Given the description of an element on the screen output the (x, y) to click on. 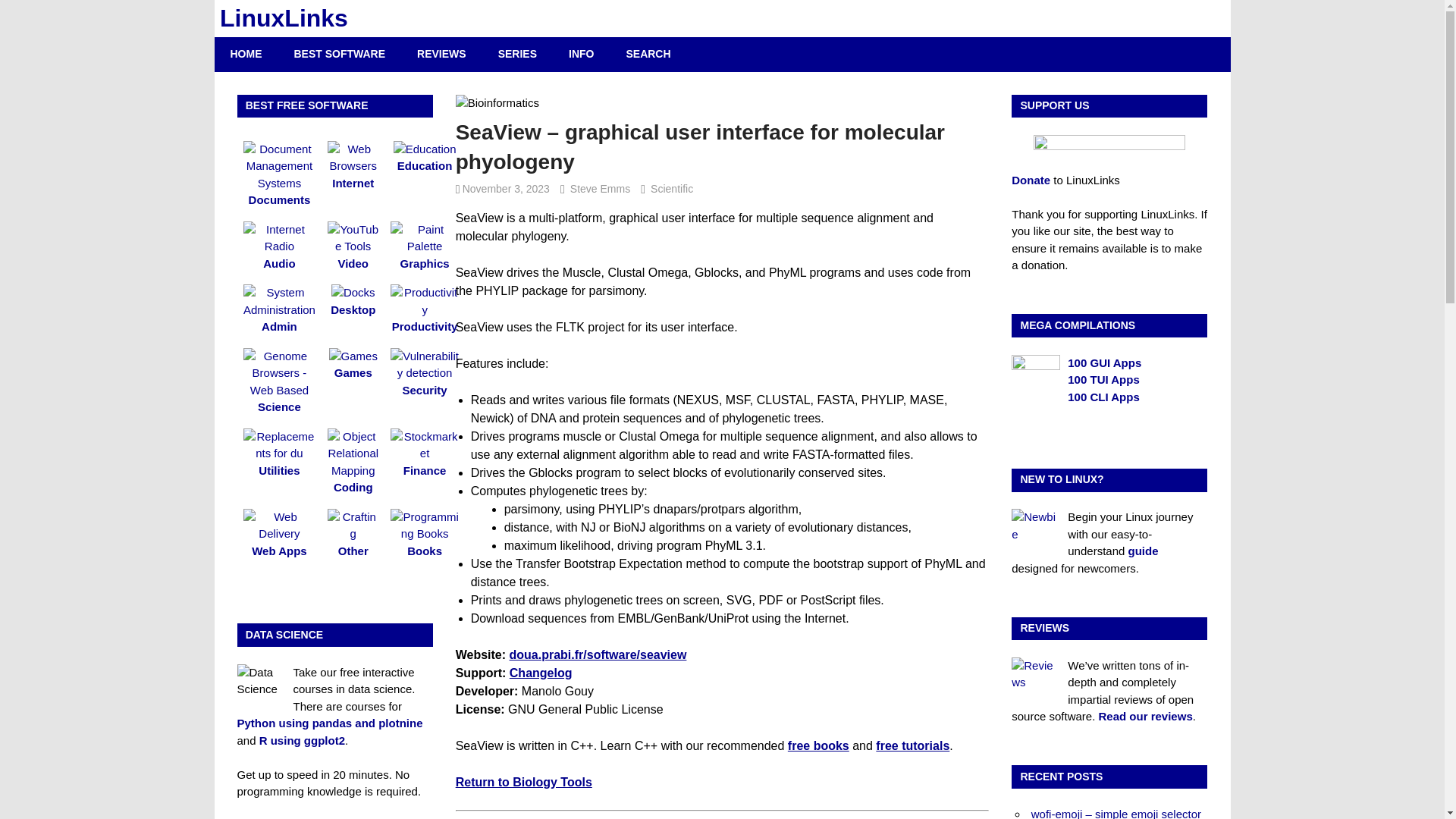
free tutorials (912, 745)
LinuxLinks (283, 17)
View all posts by Steve Emms (600, 188)
REVIEWS (441, 53)
SERIES (517, 53)
Scientific (671, 188)
Steve Emms (600, 188)
Return to Biology Tools (523, 781)
HOME (246, 53)
SEARCH (647, 53)
INFO (581, 53)
BEST SOFTWARE (339, 53)
Changelog (540, 672)
free books (817, 745)
November 3, 2023 (506, 188)
